Given the description of an element on the screen output the (x, y) to click on. 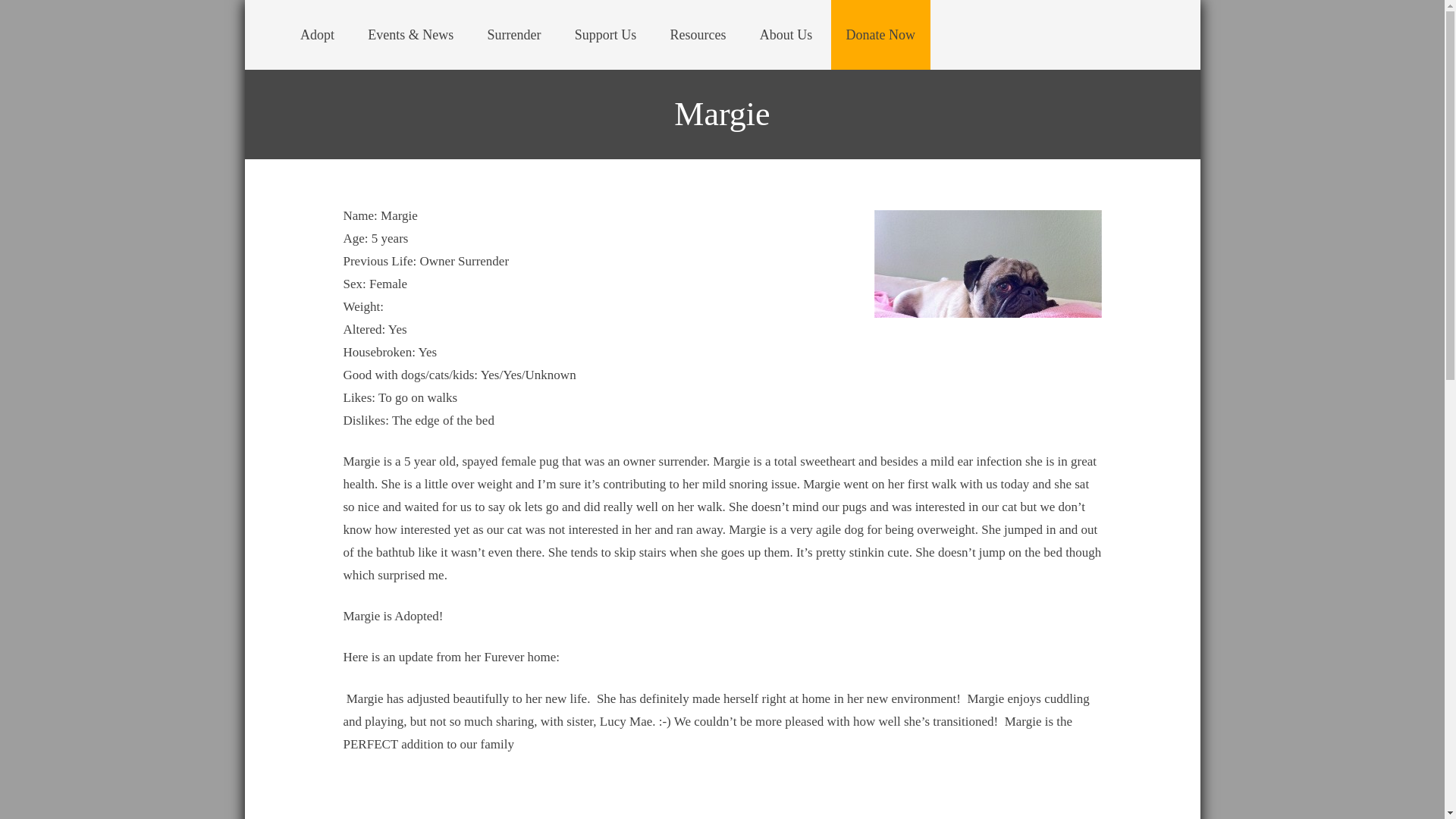
Adopt (317, 34)
Resources (698, 34)
Surrender (513, 34)
Support Us (605, 34)
Margie (986, 294)
